Given the description of an element on the screen output the (x, y) to click on. 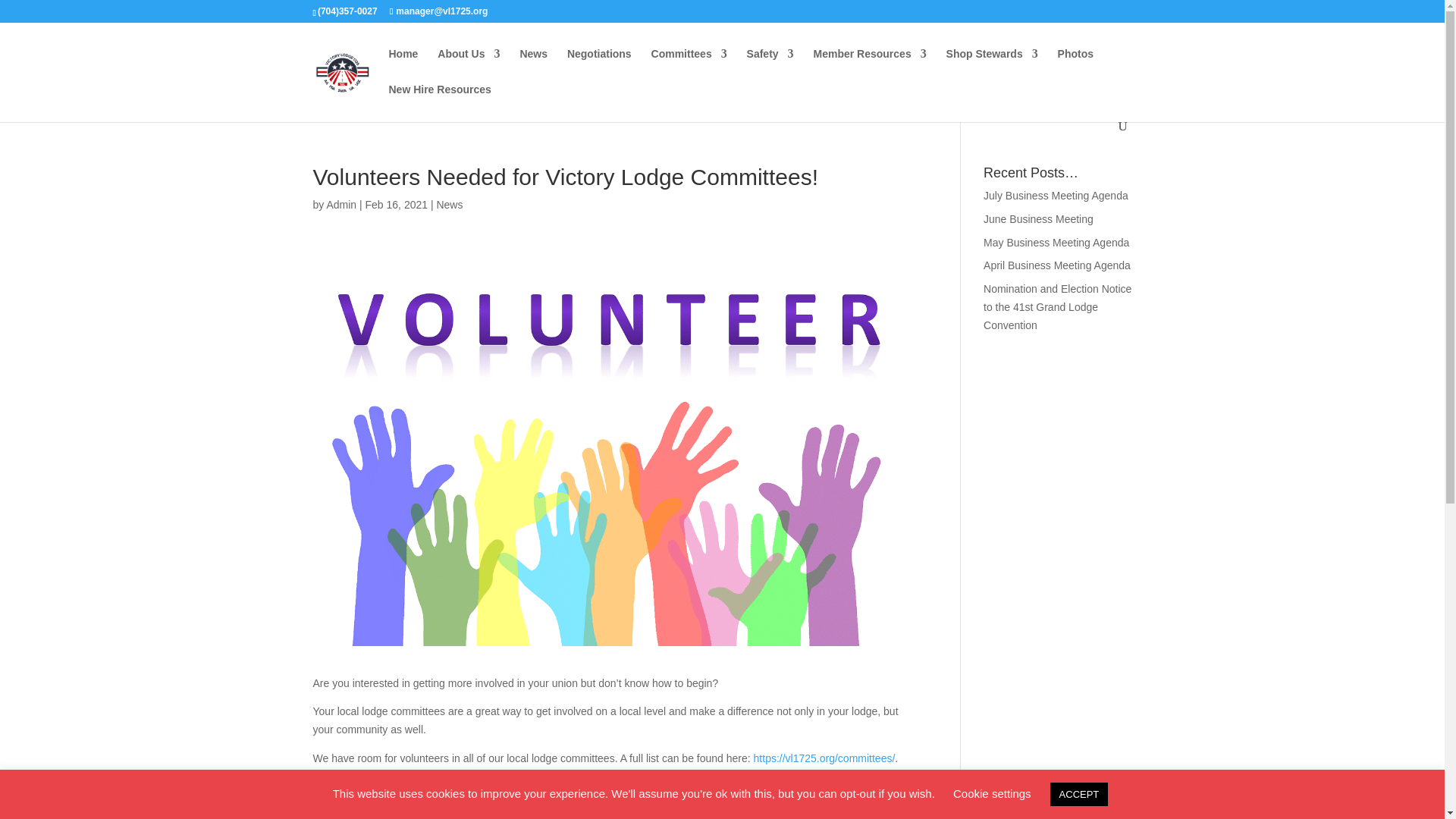
Committees (688, 66)
Posts by Admin (341, 204)
Negotiations (599, 66)
Safety (769, 66)
About Us (468, 66)
Member Resources (869, 66)
Shop Stewards (992, 66)
